Given the description of an element on the screen output the (x, y) to click on. 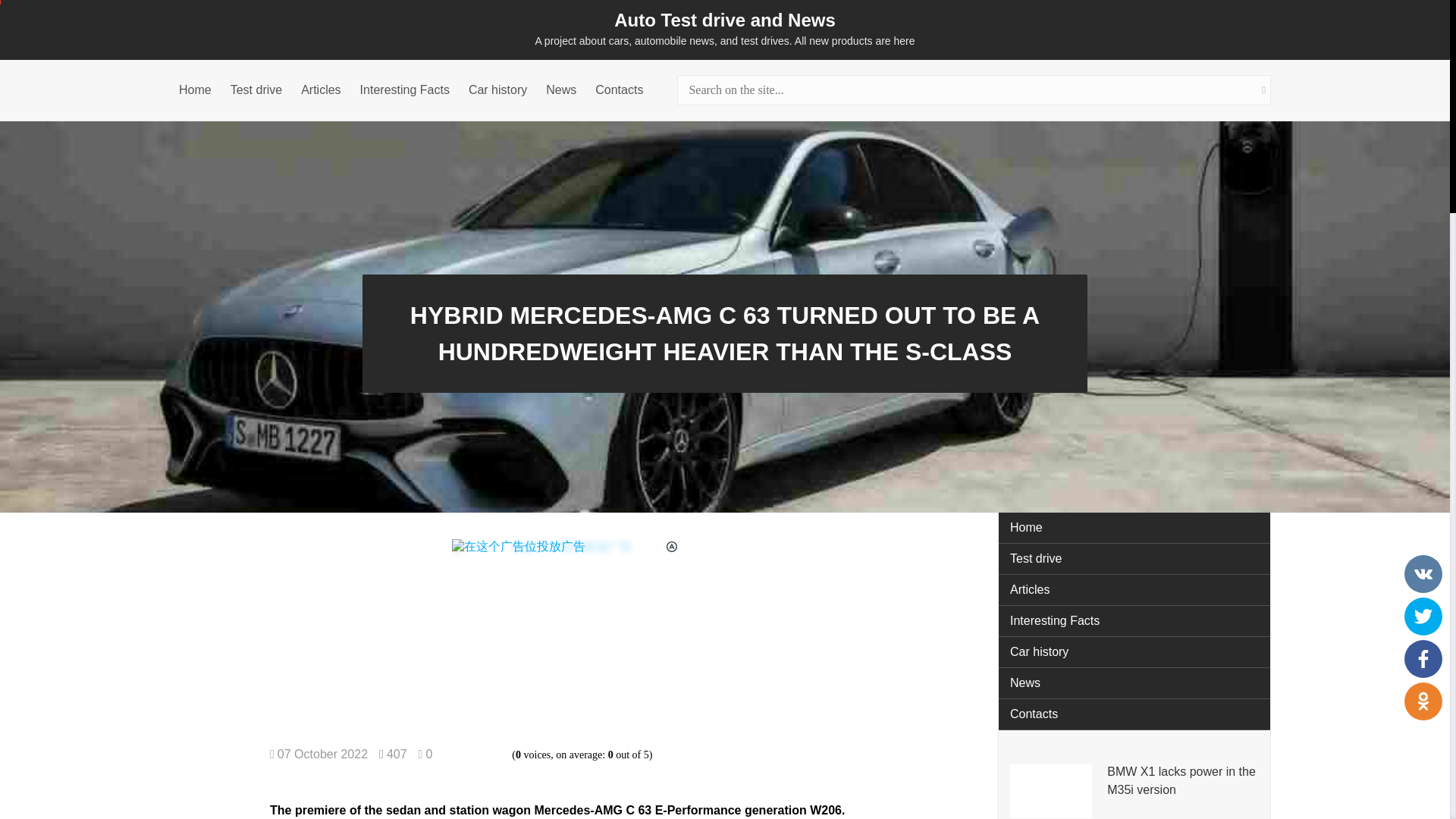
Contacts (619, 90)
BMW X1 lacks power in the M35i version (1182, 790)
News (561, 90)
Articles (320, 90)
News (1133, 683)
Home (195, 90)
Test drive (256, 90)
Interesting Facts (404, 90)
Contacts (1133, 714)
